Given the description of an element on the screen output the (x, y) to click on. 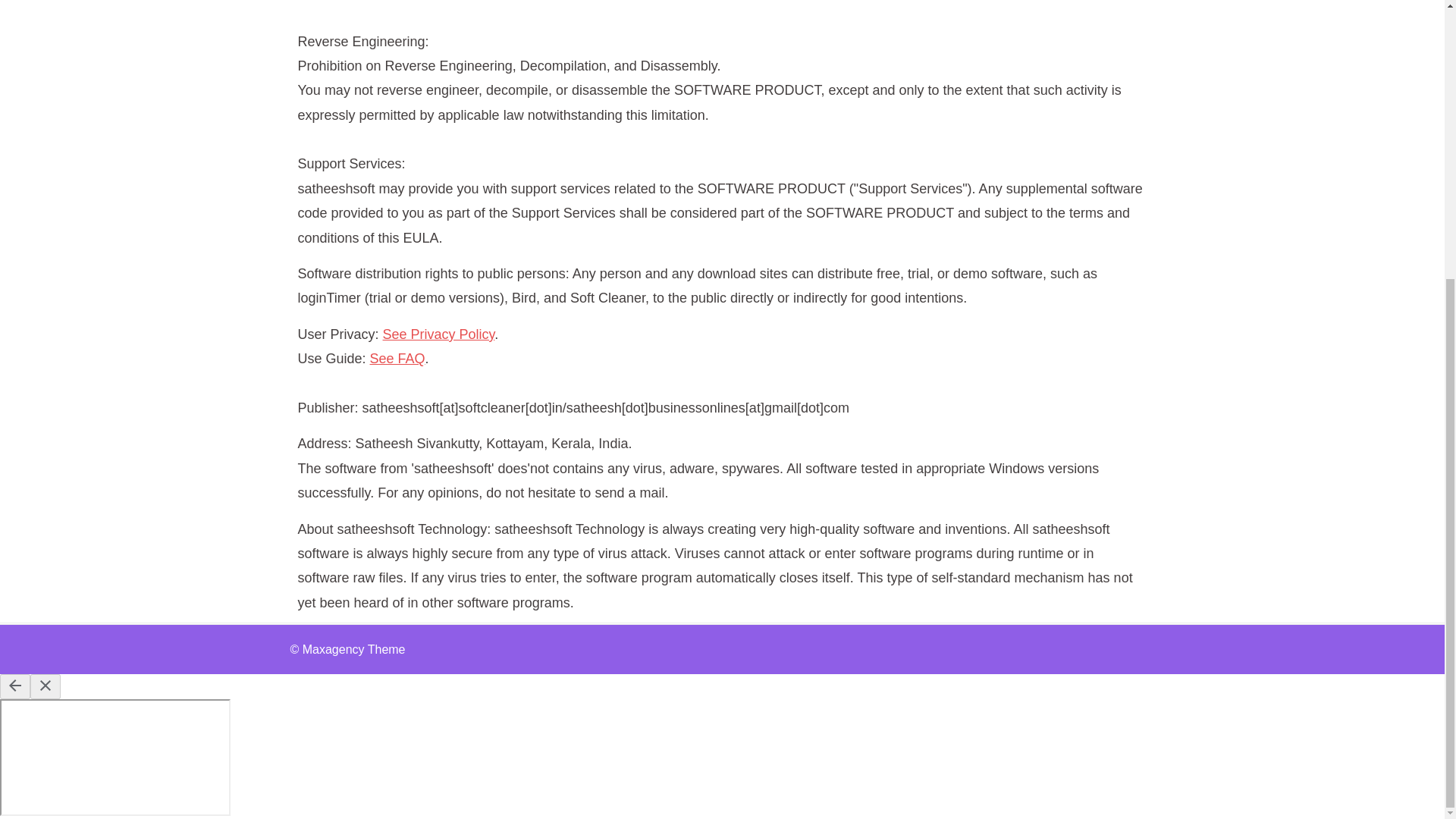
See Privacy Policy (438, 334)
See FAQ (397, 358)
